Given the description of an element on the screen output the (x, y) to click on. 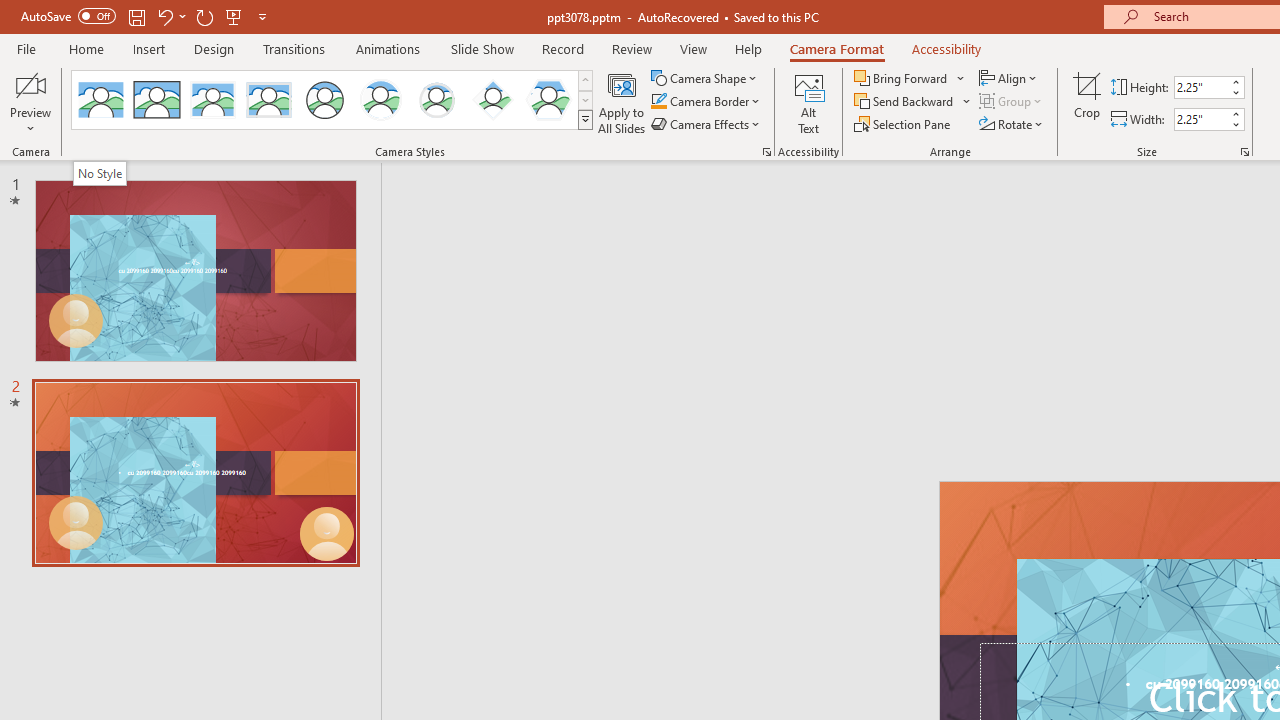
From Beginning (234, 15)
Bring Forward (902, 78)
Send Backward (905, 101)
Insert (149, 48)
